Given the description of an element on the screen output the (x, y) to click on. 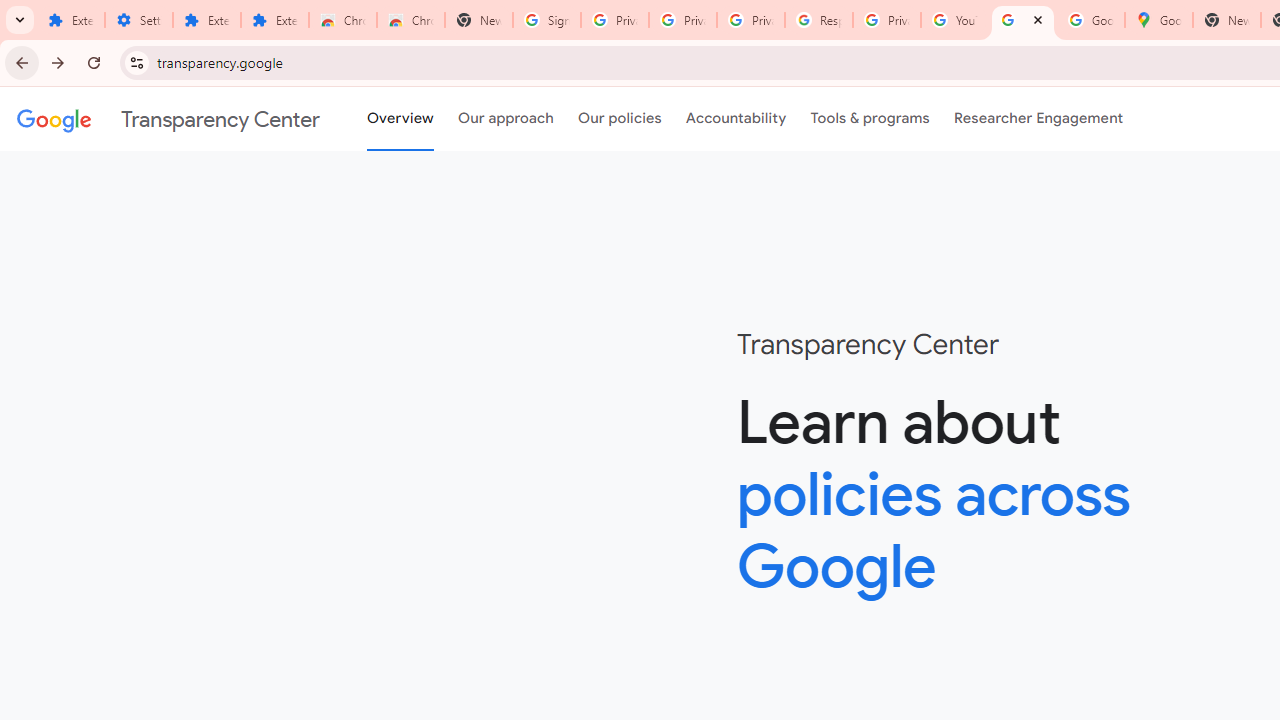
Extensions (274, 20)
YouTube (954, 20)
Our policies (619, 119)
